Given the description of an element on the screen output the (x, y) to click on. 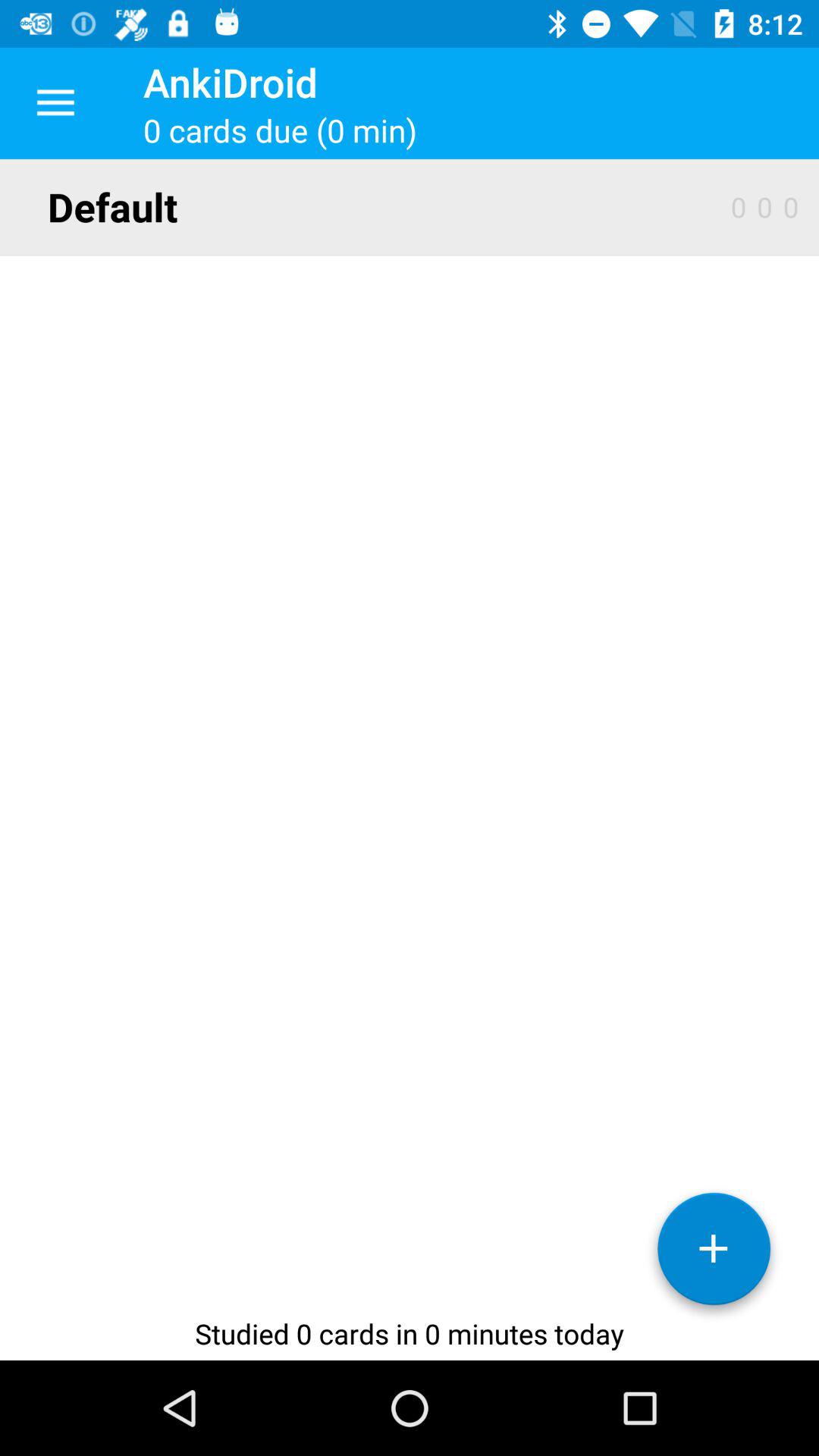
press app next to the ankidroid app (55, 103)
